Given the description of an element on the screen output the (x, y) to click on. 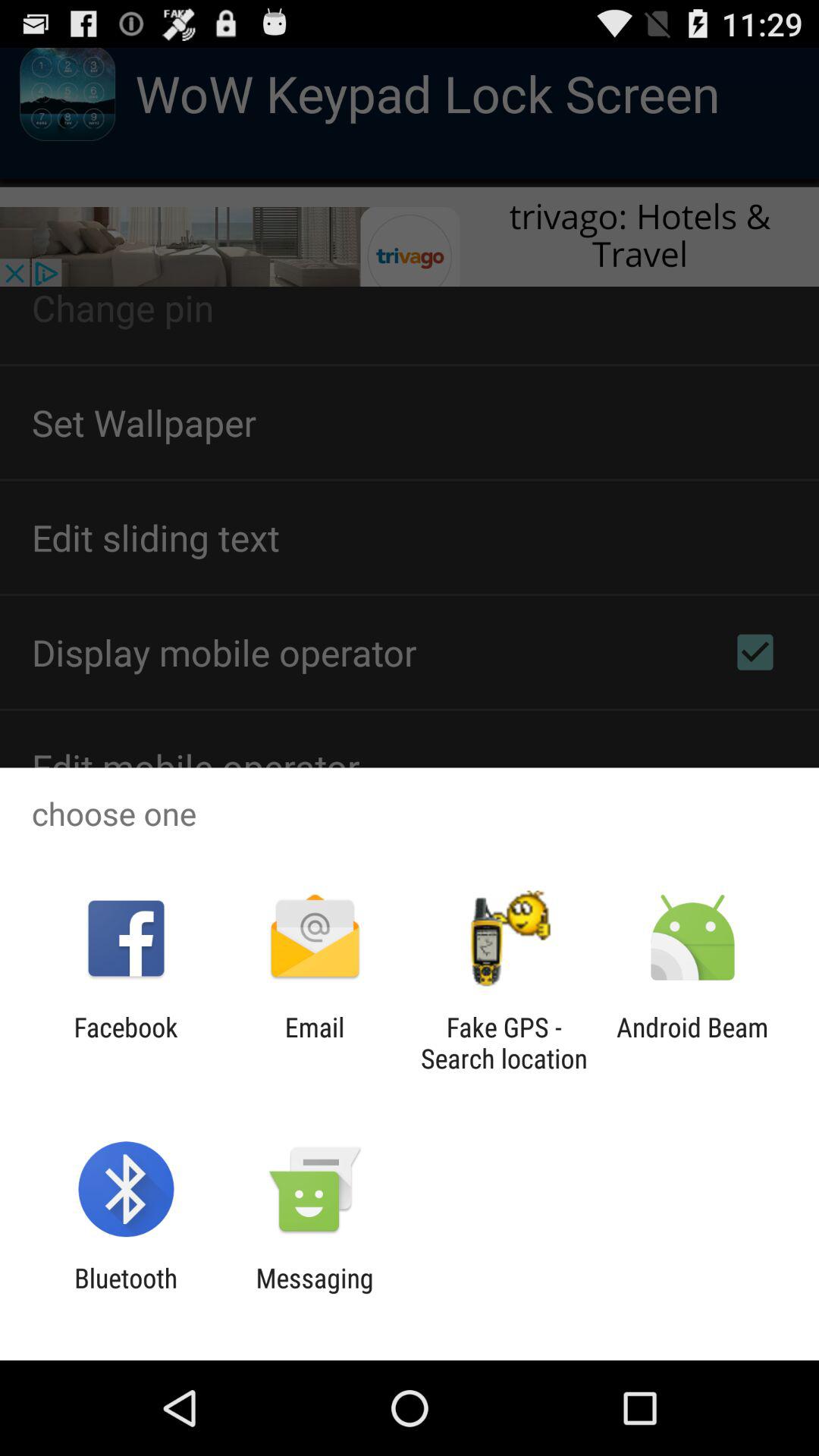
jump to the android beam (692, 1042)
